Given the description of an element on the screen output the (x, y) to click on. 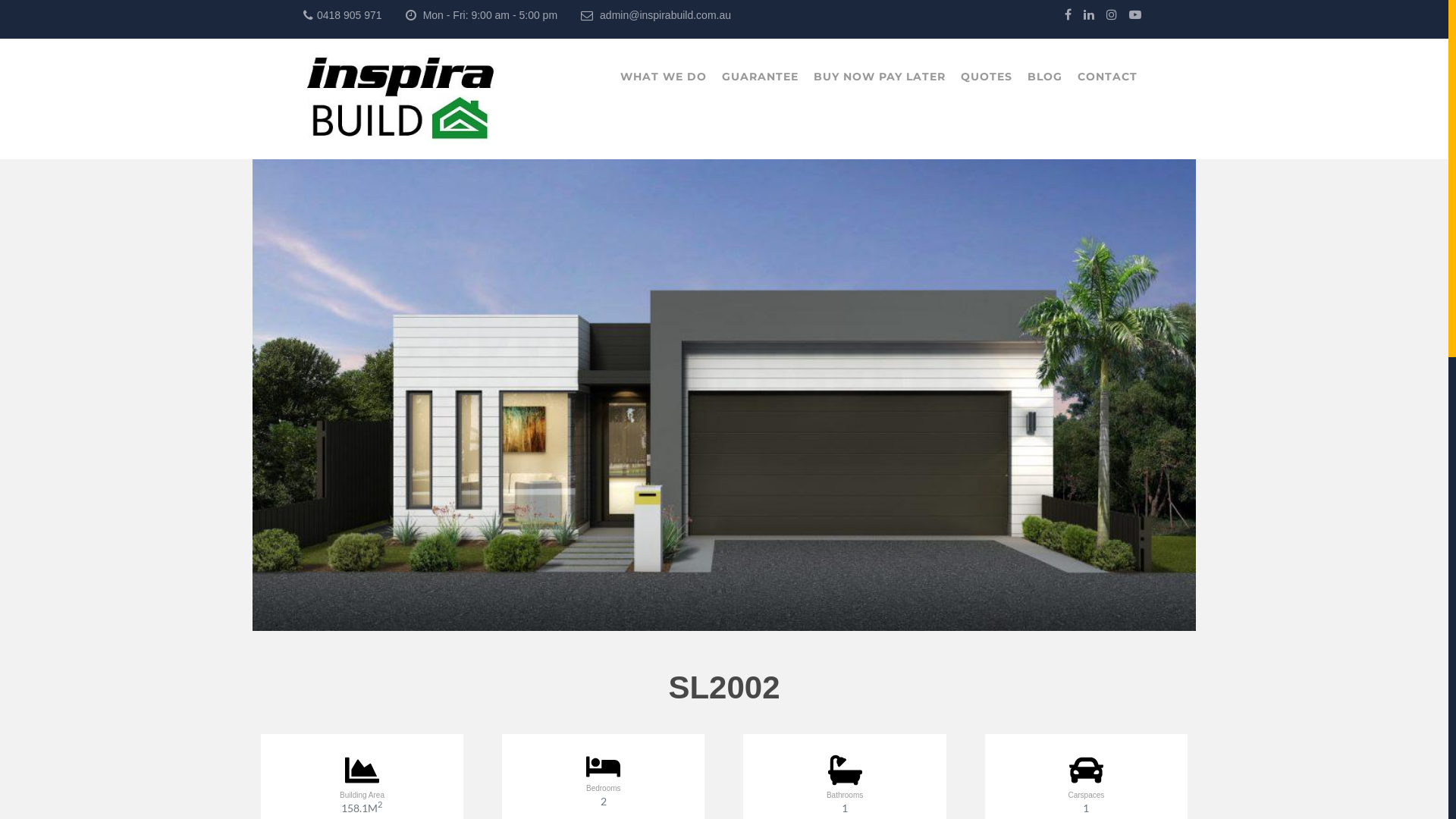
CONTACT Element type: text (1107, 76)
WHAT WE DO Element type: text (663, 76)
BLOG Element type: text (1044, 76)
QUOTES Element type: text (986, 76)
BUY NOW PAY LATER Element type: text (879, 76)
GUARANTEE Element type: text (759, 76)
